Given the description of an element on the screen output the (x, y) to click on. 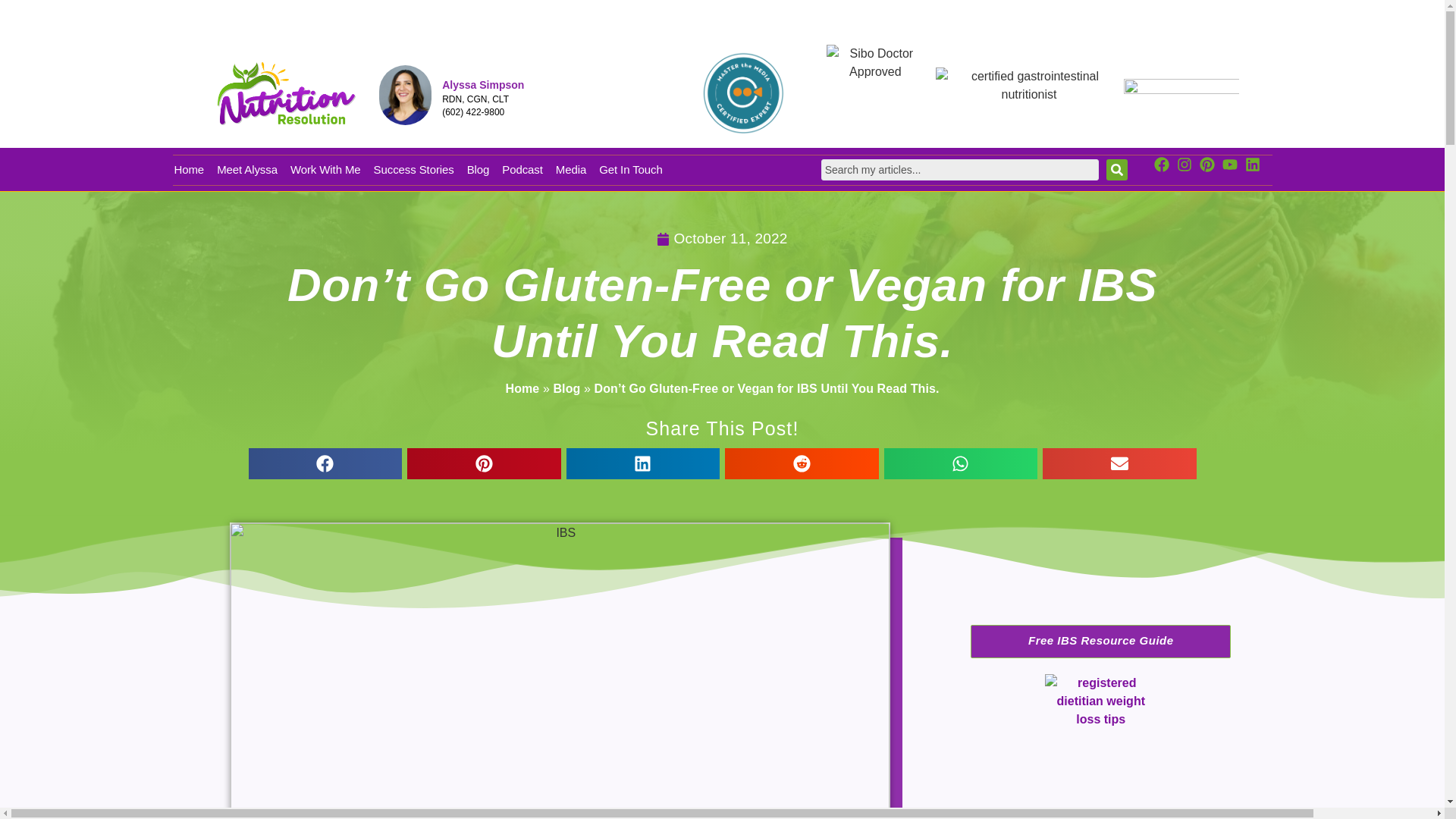
Podcast (522, 169)
Media (571, 169)
Success Stories (414, 169)
Get In Touch (630, 169)
Meet Alyssa (247, 169)
Home (189, 169)
Blog (478, 169)
Work With Me (325, 169)
